Given the description of an element on the screen output the (x, y) to click on. 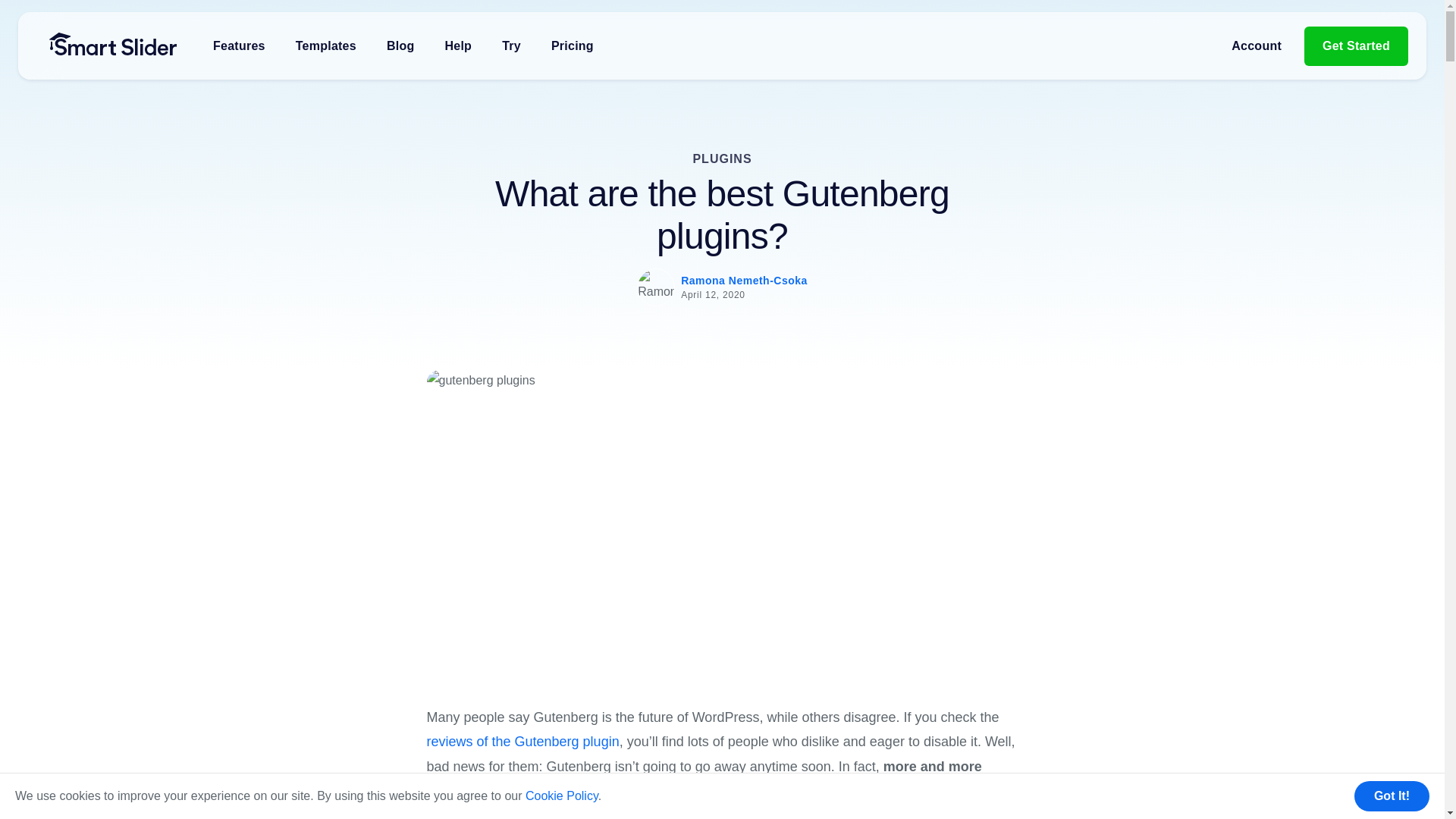
Features (239, 46)
Blog (400, 46)
Got It! (1391, 796)
reviews of the Gutenberg plugin (522, 742)
Cookie Policy (561, 795)
Help (457, 46)
Ramona Nemeth-Csoka (744, 280)
Account (1256, 46)
Templates (326, 46)
PLUGINS (722, 158)
